Given the description of an element on the screen output the (x, y) to click on. 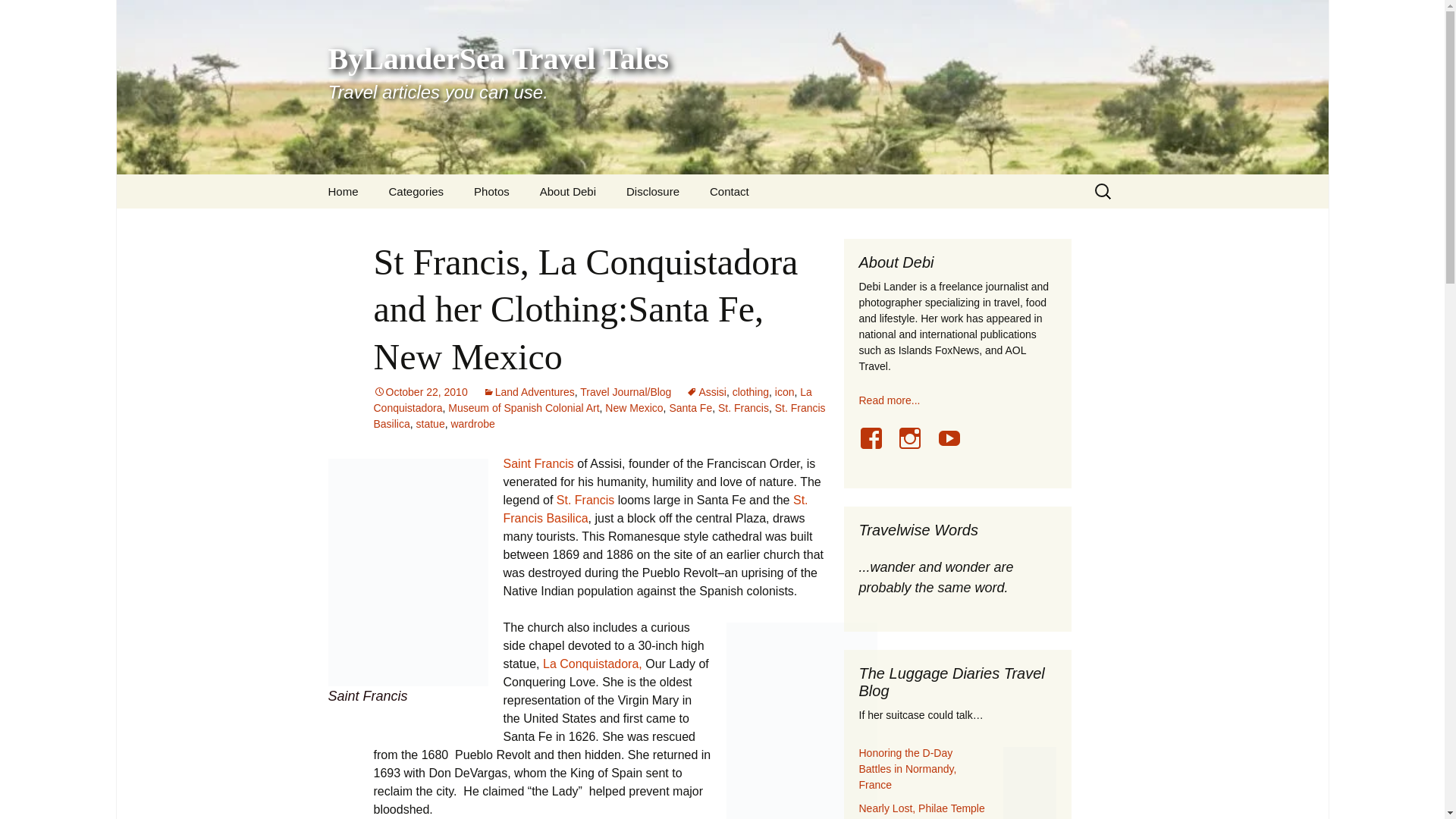
Photos (491, 191)
St. Francis (585, 499)
Follow Debi on Facebook (877, 446)
icon (784, 391)
wardrobe (472, 423)
statue (430, 423)
Contact (729, 191)
St. Francis Basilica (598, 415)
Disclosure (652, 191)
October 22, 2010 (419, 391)
Museum of Spanish Colonial Art (523, 408)
Honoring the D-Day Battles in Normandy, France (907, 768)
Saint Francis (538, 463)
Assisi (705, 391)
